Given the description of an element on the screen output the (x, y) to click on. 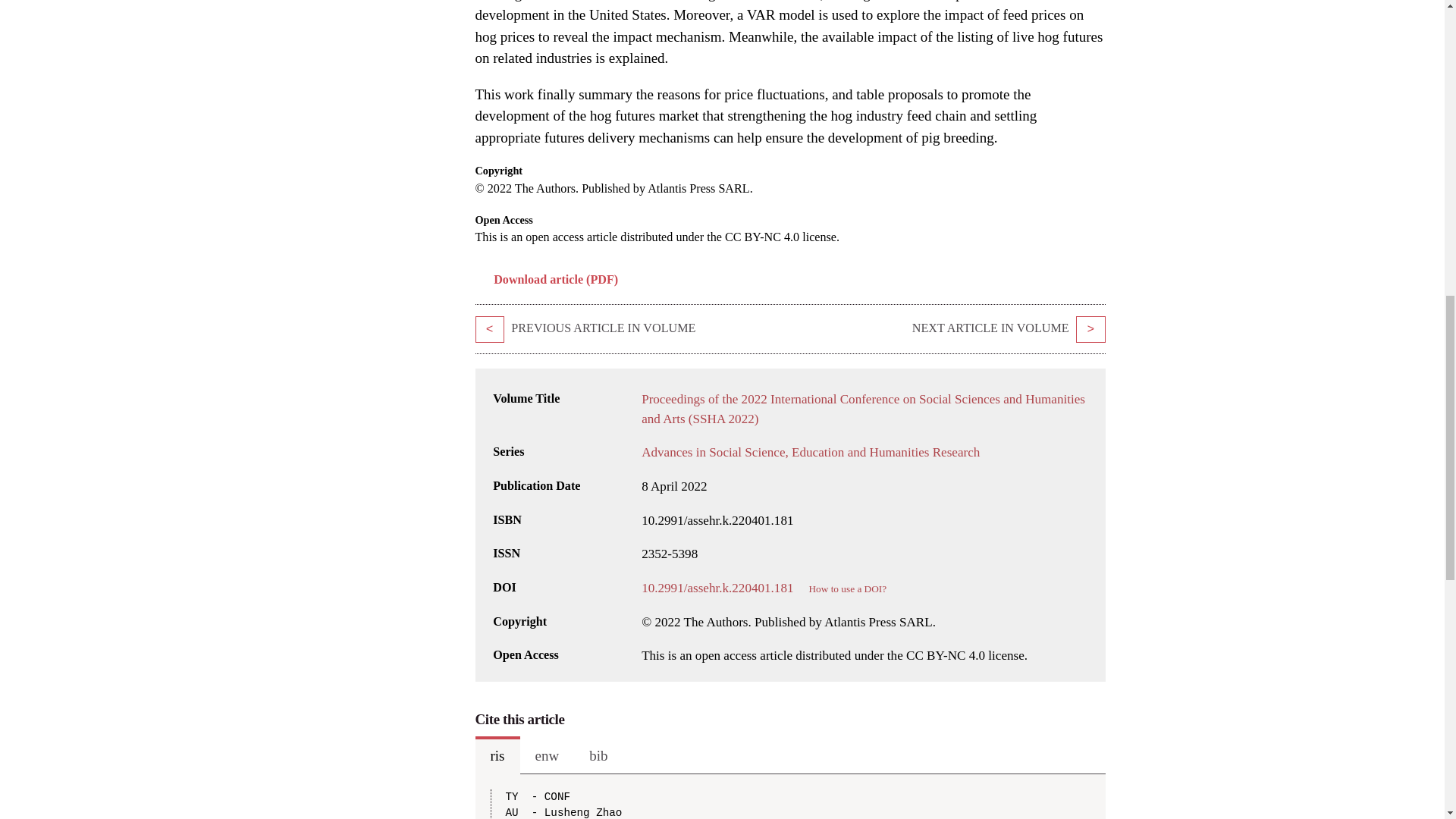
How to use a DOI? (847, 588)
enw (547, 754)
ris (496, 754)
bib (598, 754)
